Given the description of an element on the screen output the (x, y) to click on. 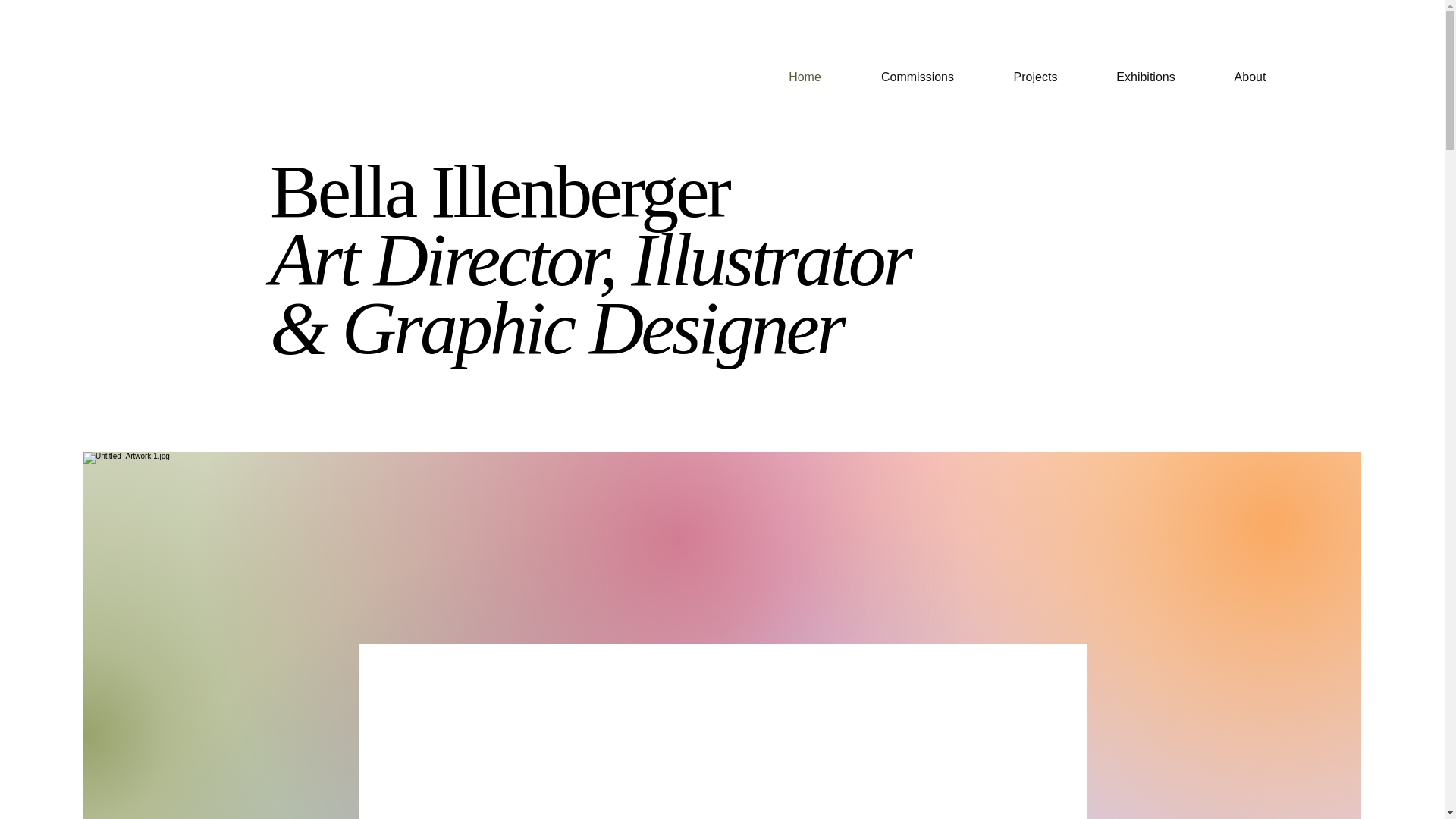
Projects (1035, 77)
Exhibitions (1146, 77)
Commissions (917, 77)
Home (804, 77)
About (1249, 77)
